Given the description of an element on the screen output the (x, y) to click on. 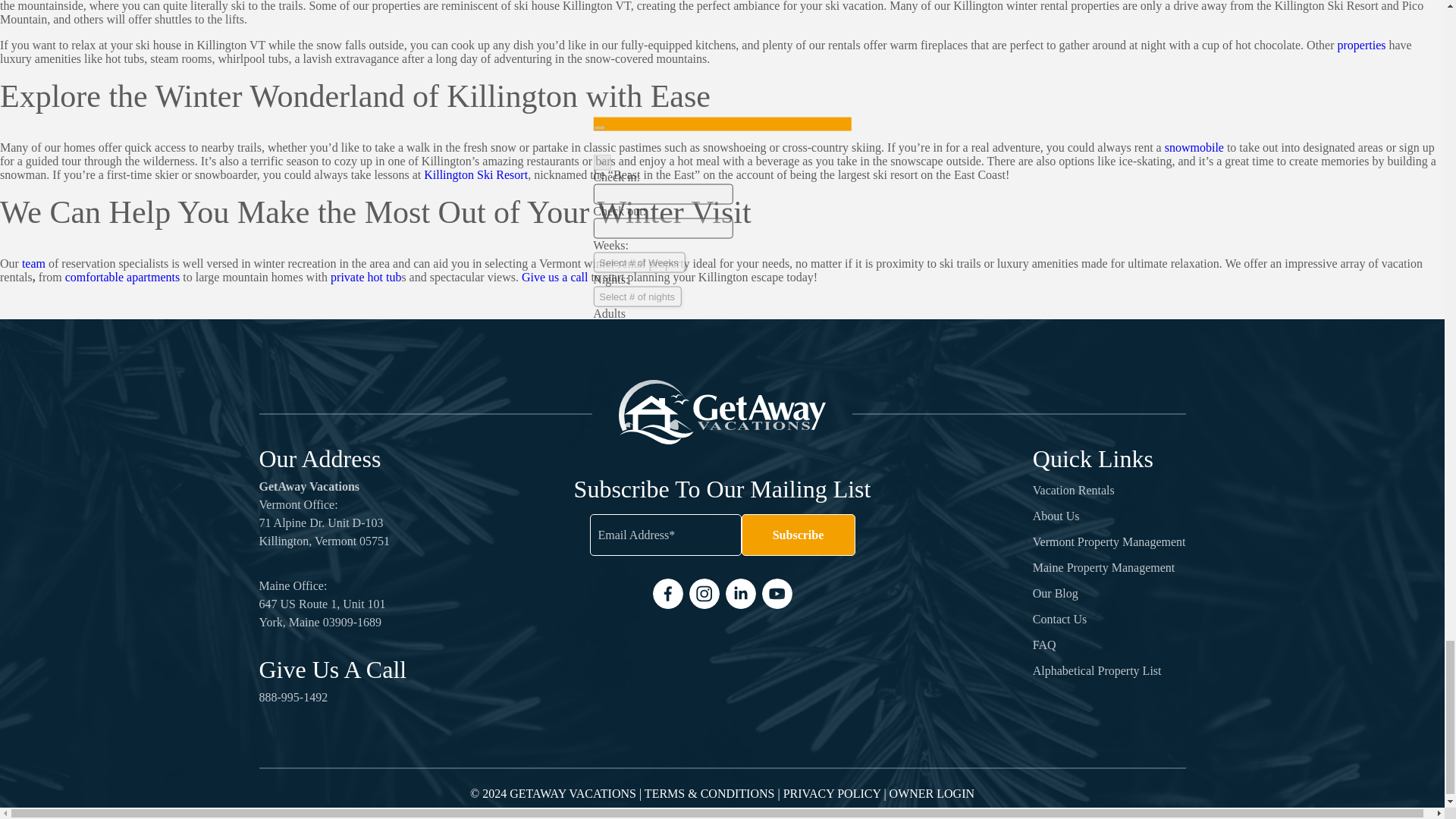
Killington, VT Vacation Rentals by GetAway Vacations Logo (721, 412)
